Given the description of an element on the screen output the (x, y) to click on. 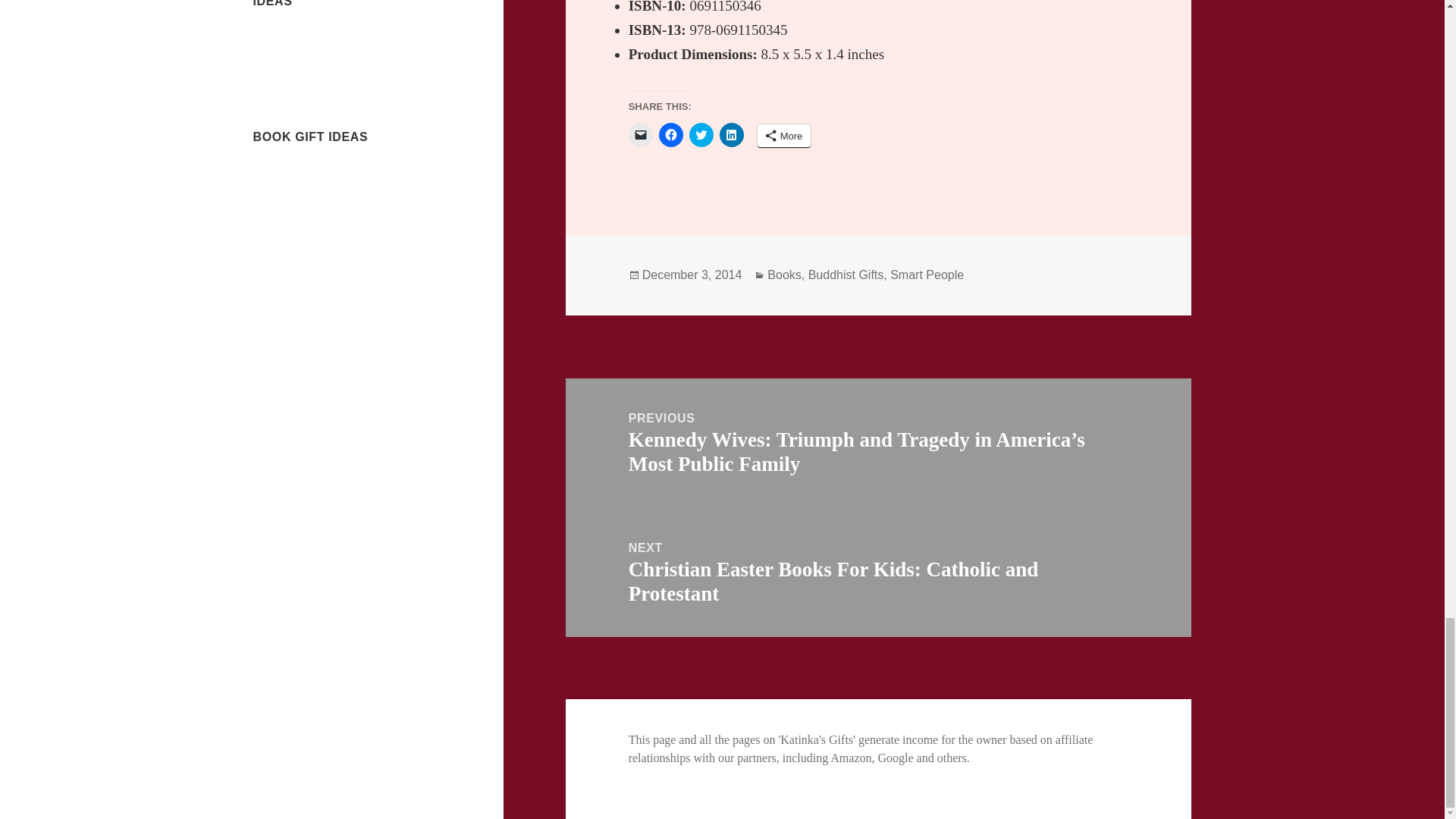
Click to share on LinkedIn (731, 134)
Click to share on Facebook (670, 134)
Click to email a link to a friend (640, 134)
Click to share on Twitter (700, 134)
College Gifts and Product recommendations (316, 46)
December 3, 2014 (692, 274)
Interesting books (295, 173)
More (783, 136)
